Given the description of an element on the screen output the (x, y) to click on. 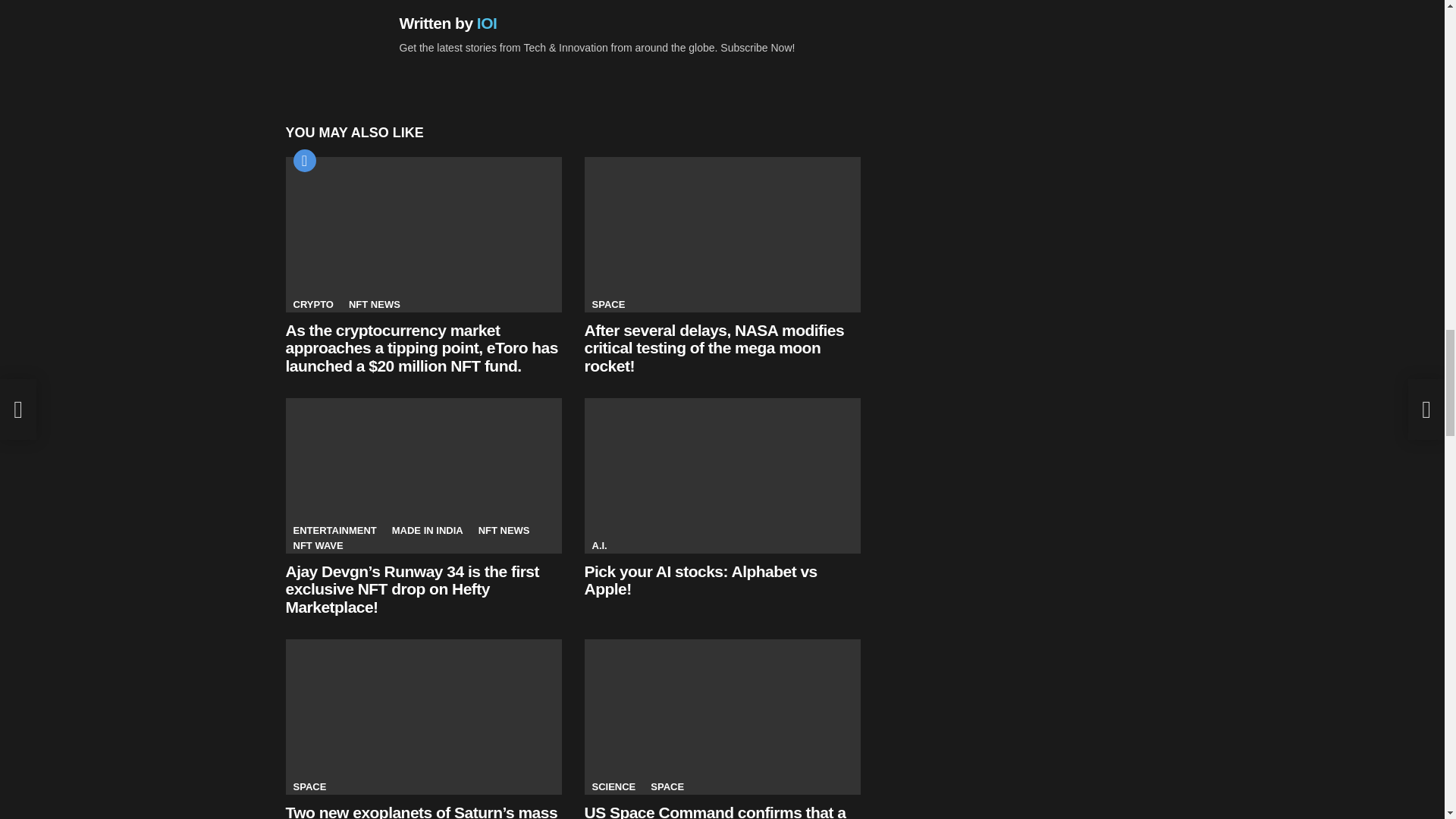
CRYPTO (312, 304)
Popular (303, 160)
Popular (303, 160)
IOI (486, 22)
Pick your AI stocks: Alphabet vs Apple! (721, 475)
